Given the description of an element on the screen output the (x, y) to click on. 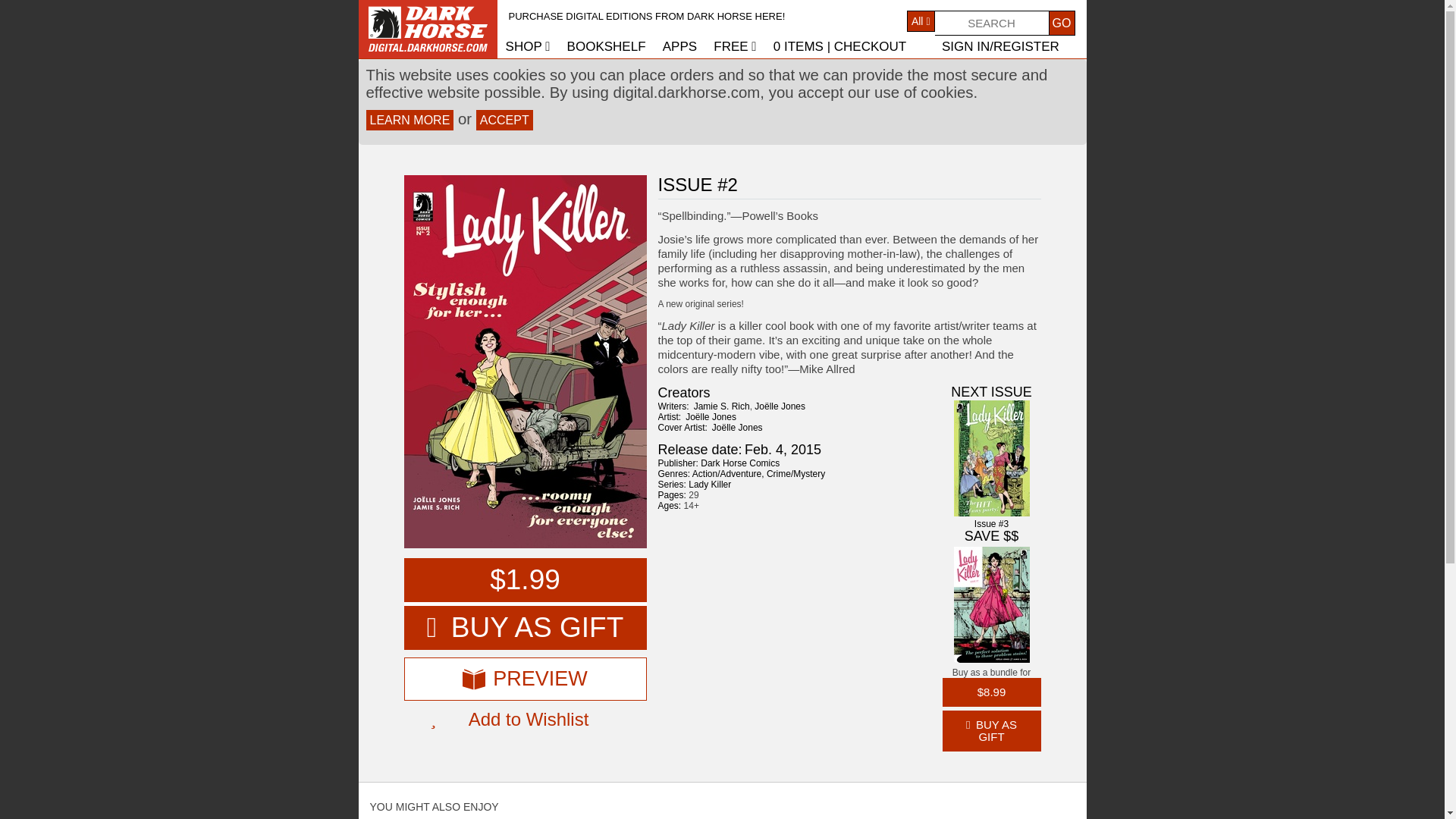
APPS (679, 46)
BOOKSHELF (606, 46)
buy book (524, 579)
